Given the description of an element on the screen output the (x, y) to click on. 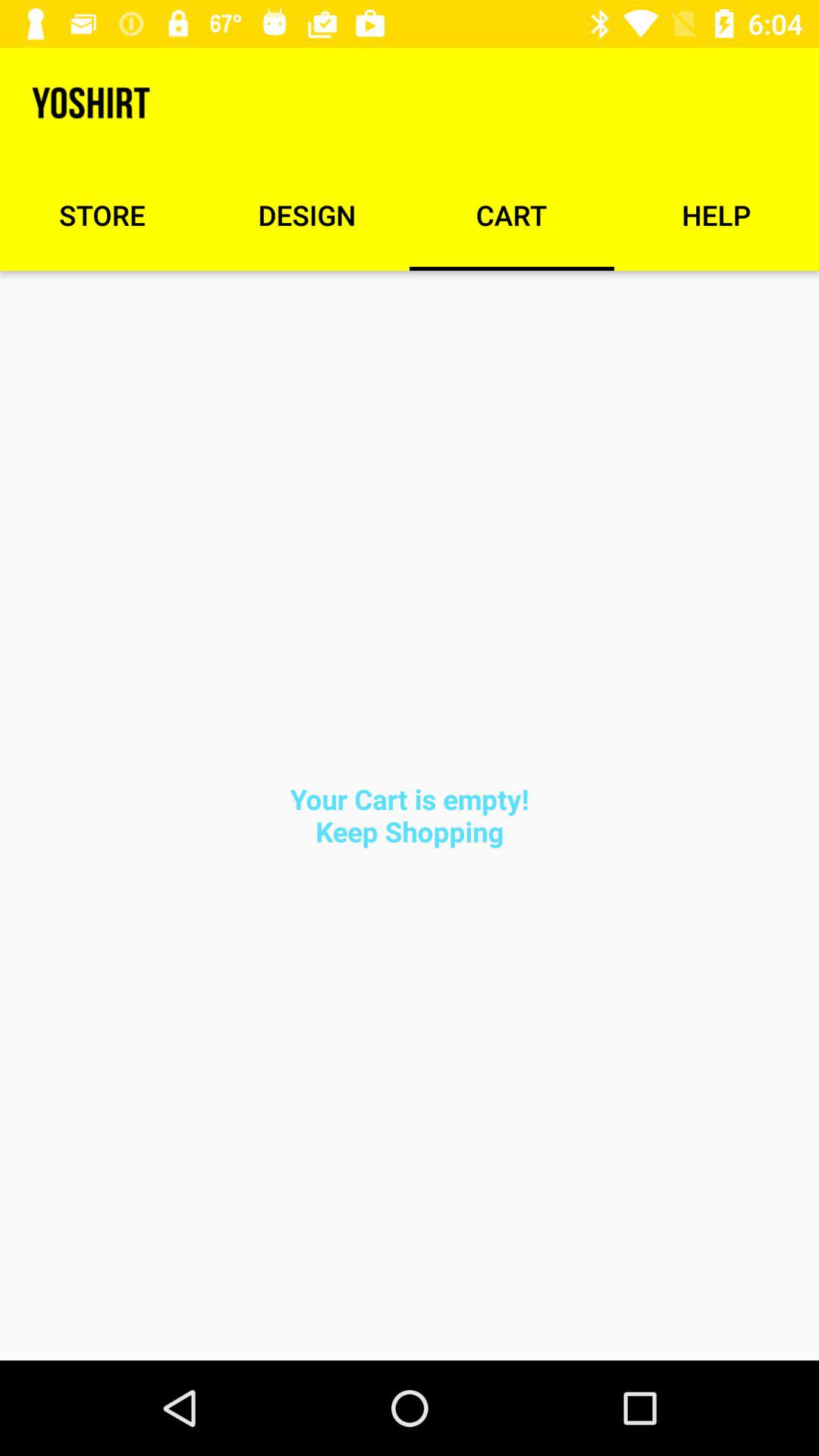
click the your cart is item (409, 815)
